Given the description of an element on the screen output the (x, y) to click on. 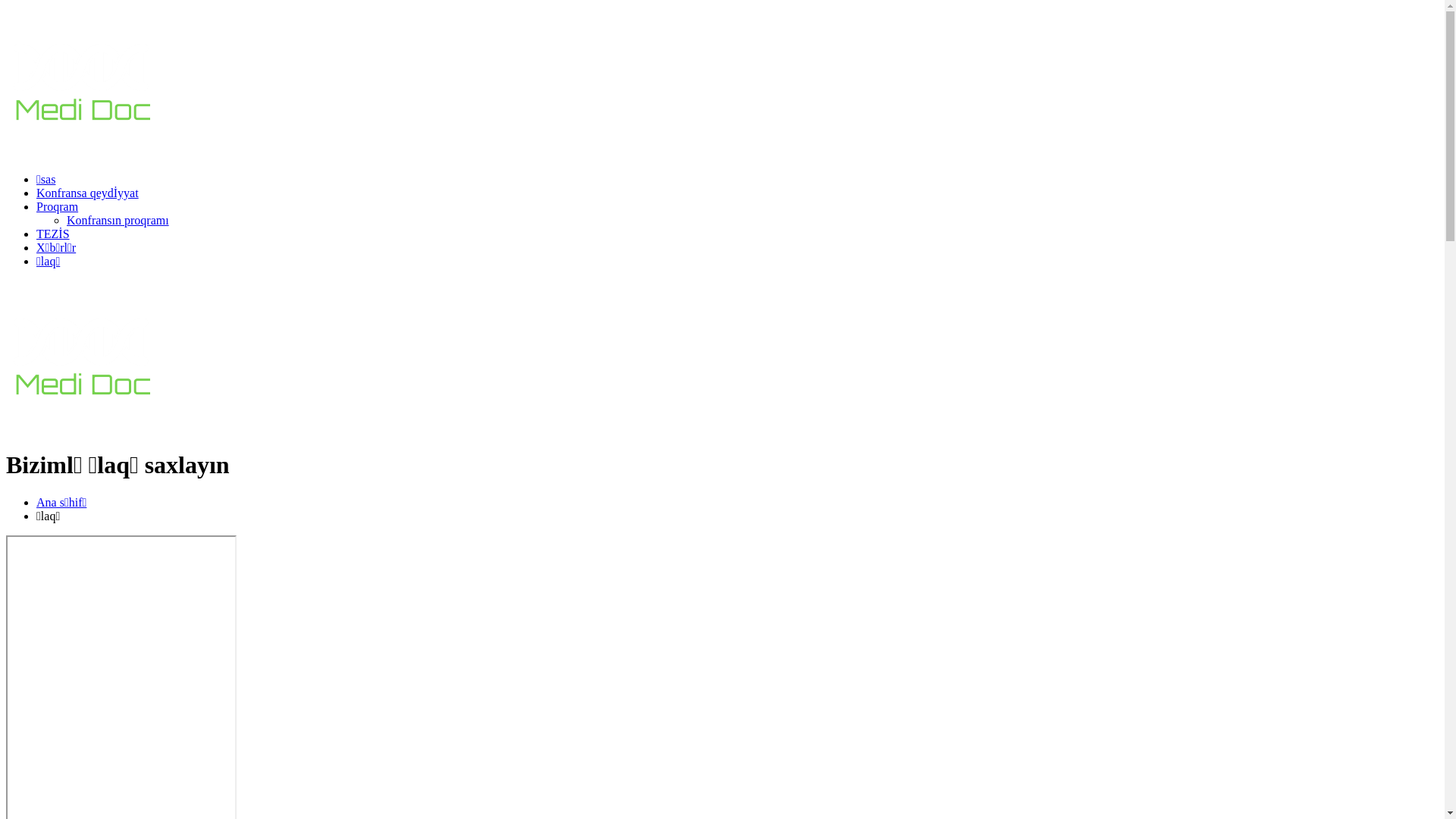
Proqram Element type: text (57, 206)
